Given the description of an element on the screen output the (x, y) to click on. 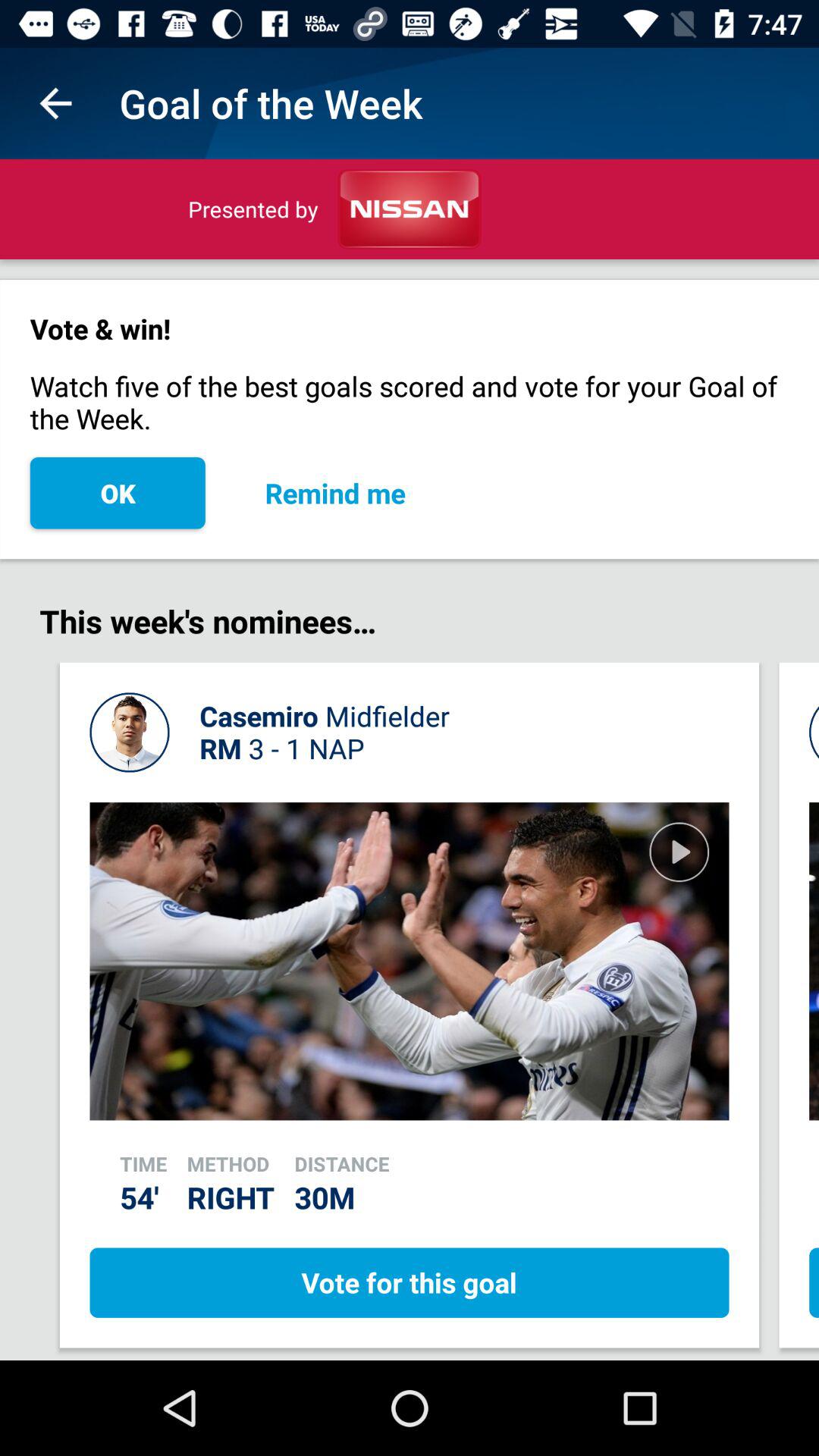
turn on app to the left of the goal of the (55, 103)
